Given the description of an element on the screen output the (x, y) to click on. 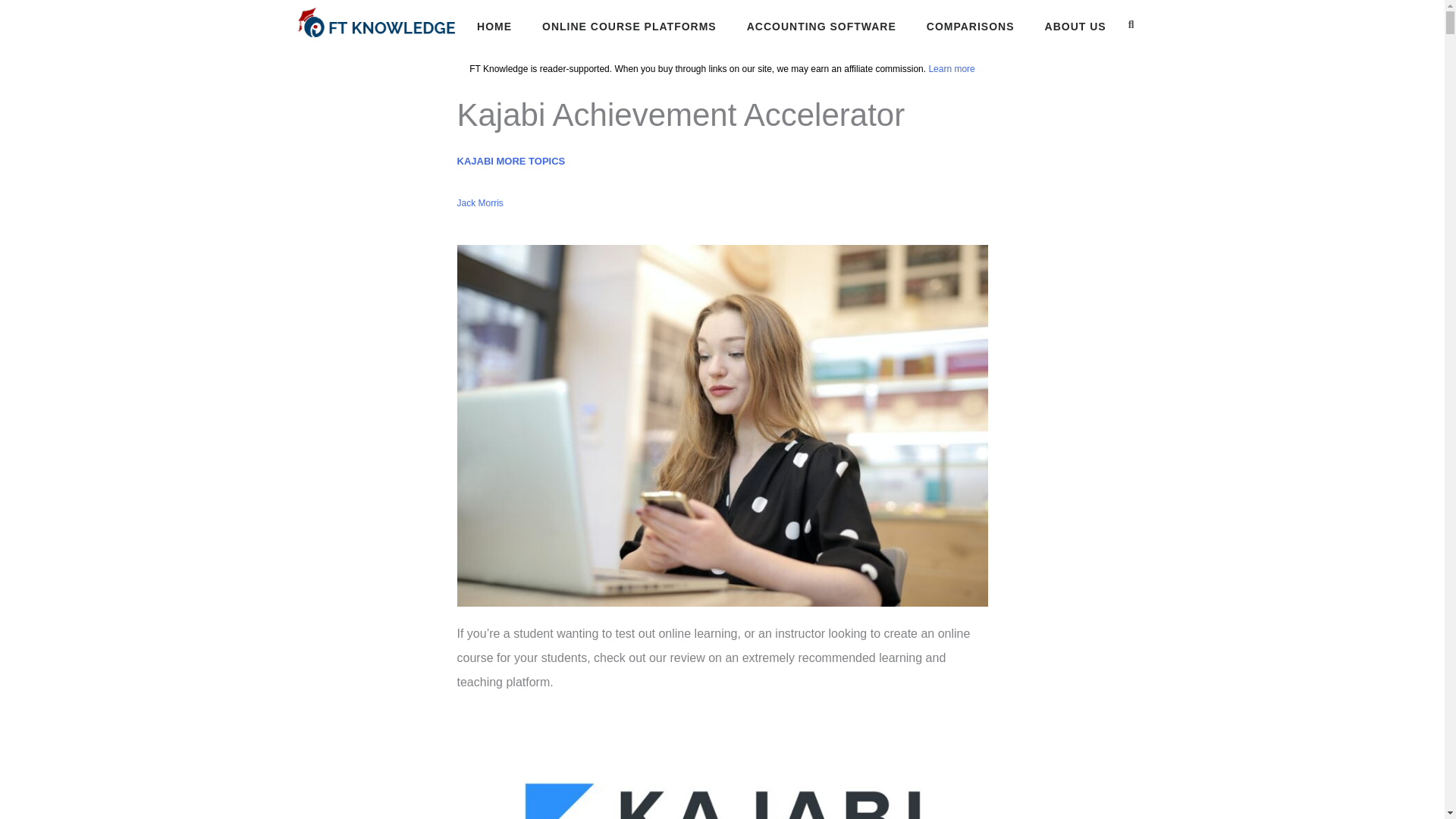
Kajabi Achievement Accelerator (722, 767)
ABOUT US (1075, 26)
Learn more (951, 68)
COMPARISONS (970, 26)
ONLINE COURSE PLATFORMS (628, 26)
Jack Morris (479, 202)
ACCOUNTING SOFTWARE (821, 26)
KAJABI MORE TOPICS (510, 161)
HOME (494, 26)
